Given the description of an element on the screen output the (x, y) to click on. 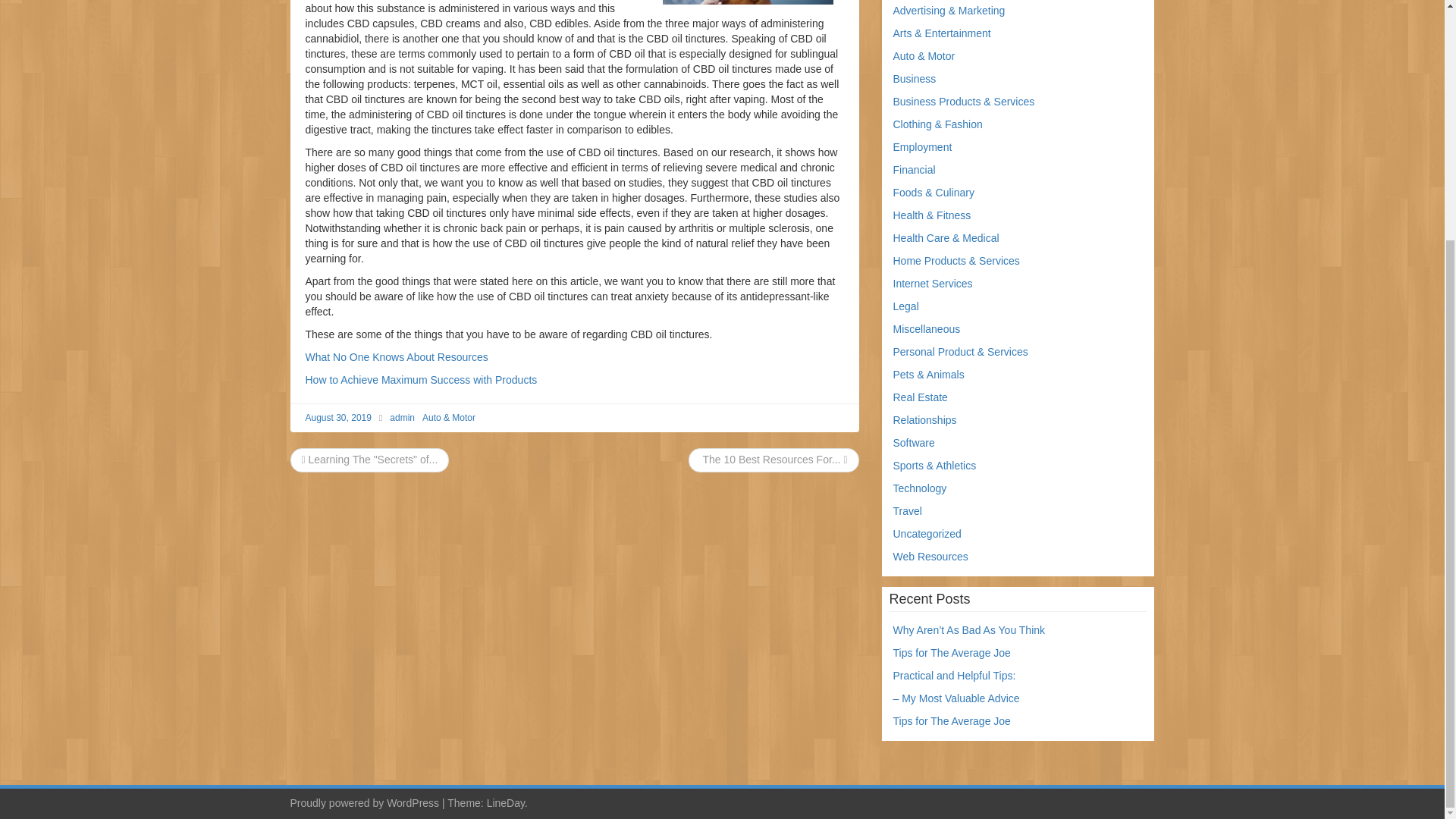
Uncategorized (926, 533)
admin (402, 417)
Travel (907, 510)
Web Resources (930, 556)
Legal (905, 306)
Internet Services (932, 283)
How to Achieve Maximum Success with Products (420, 379)
Business (914, 78)
What No One Knows About Resources (395, 357)
August 30, 2019 (337, 417)
